Given the description of an element on the screen output the (x, y) to click on. 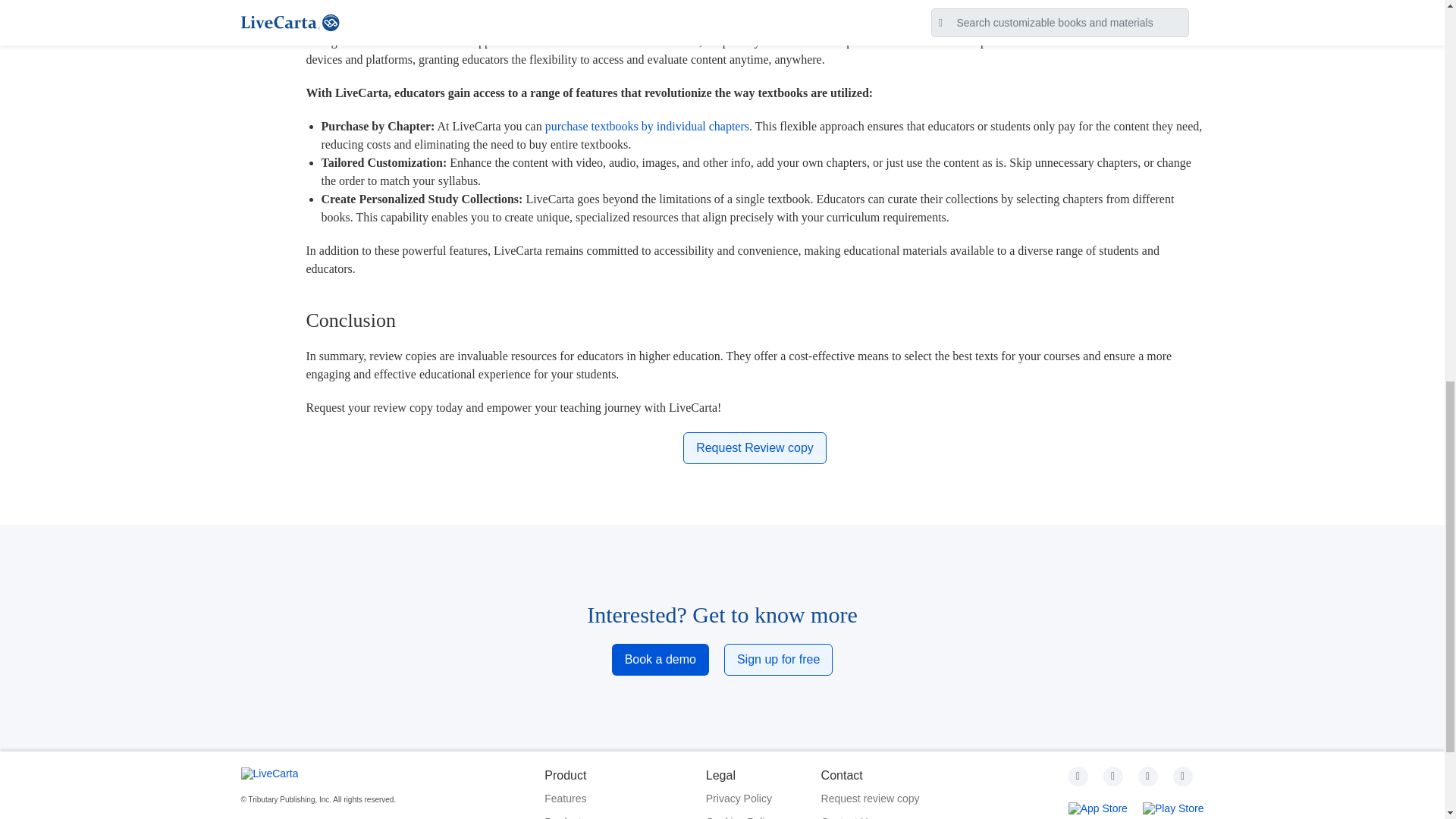
Product (602, 816)
Cookies Policy (741, 816)
Instagram (1112, 776)
Sign up for free (777, 659)
Contact Us (870, 816)
purchase textbooks by individual chapters (646, 125)
LinkedIn (1182, 776)
Request review copy (870, 798)
Book a demo (660, 659)
Request Review copy (754, 448)
